Given the description of an element on the screen output the (x, y) to click on. 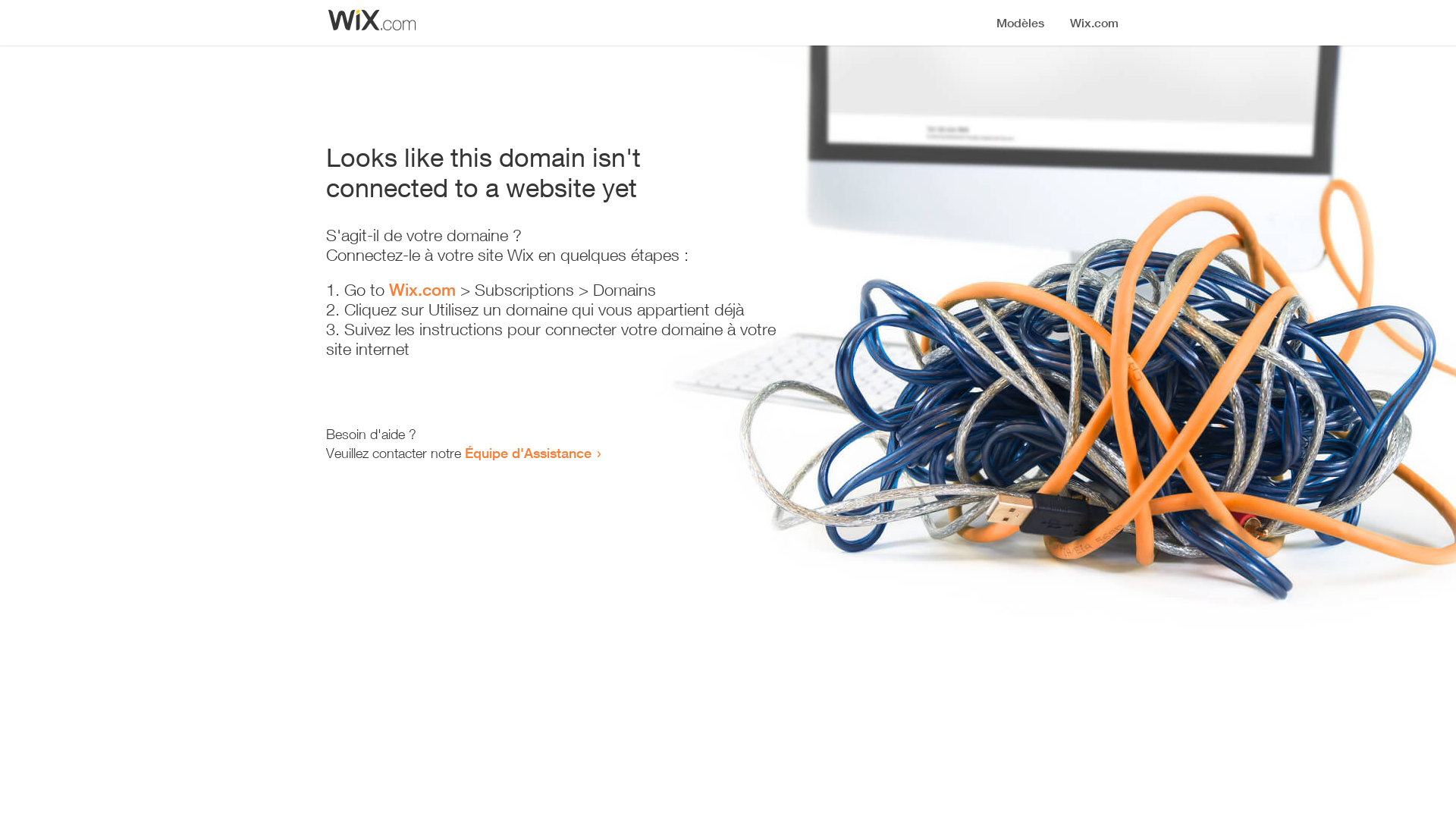
Wix.com Element type: text (422, 289)
